Given the description of an element on the screen output the (x, y) to click on. 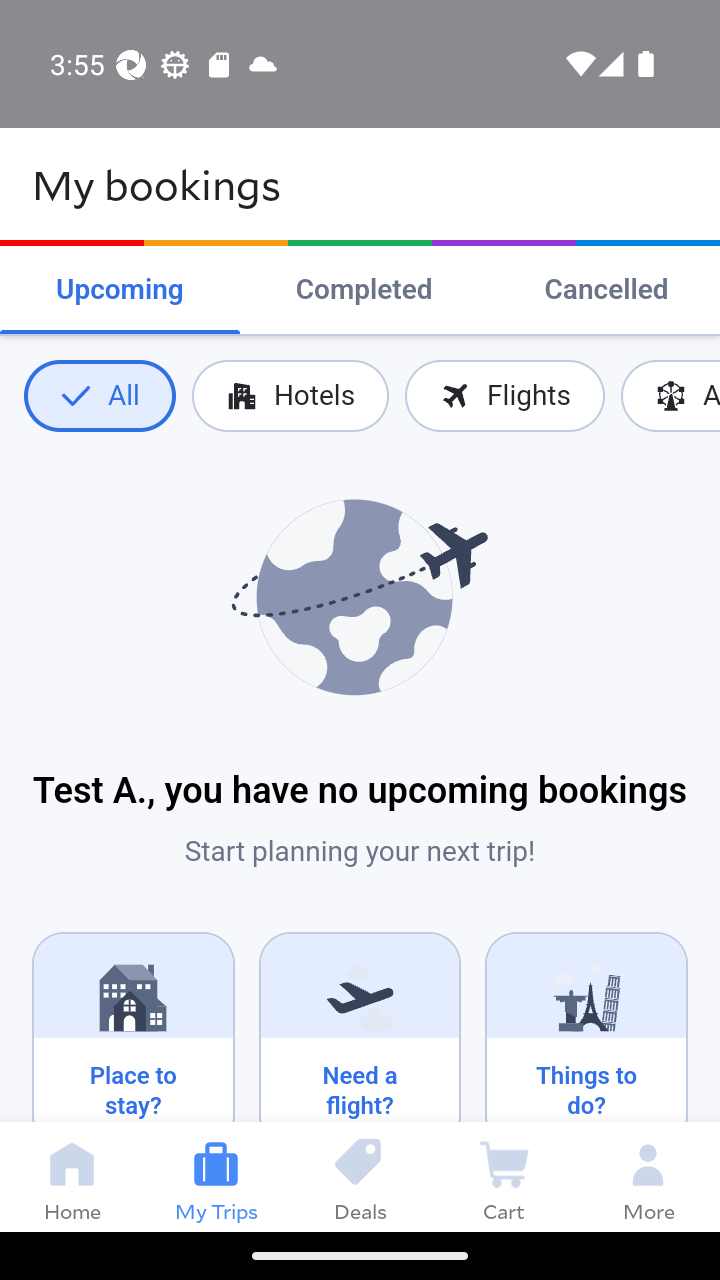
Upcoming (119, 289)
Completed (363, 289)
Cancelled (606, 289)
All (99, 395)
Hotels (290, 395)
Flights (504, 395)
Activities (669, 395)
Home (72, 1176)
My Trips (216, 1176)
Deals (360, 1176)
Cart (504, 1176)
More (648, 1176)
